Given the description of an element on the screen output the (x, y) to click on. 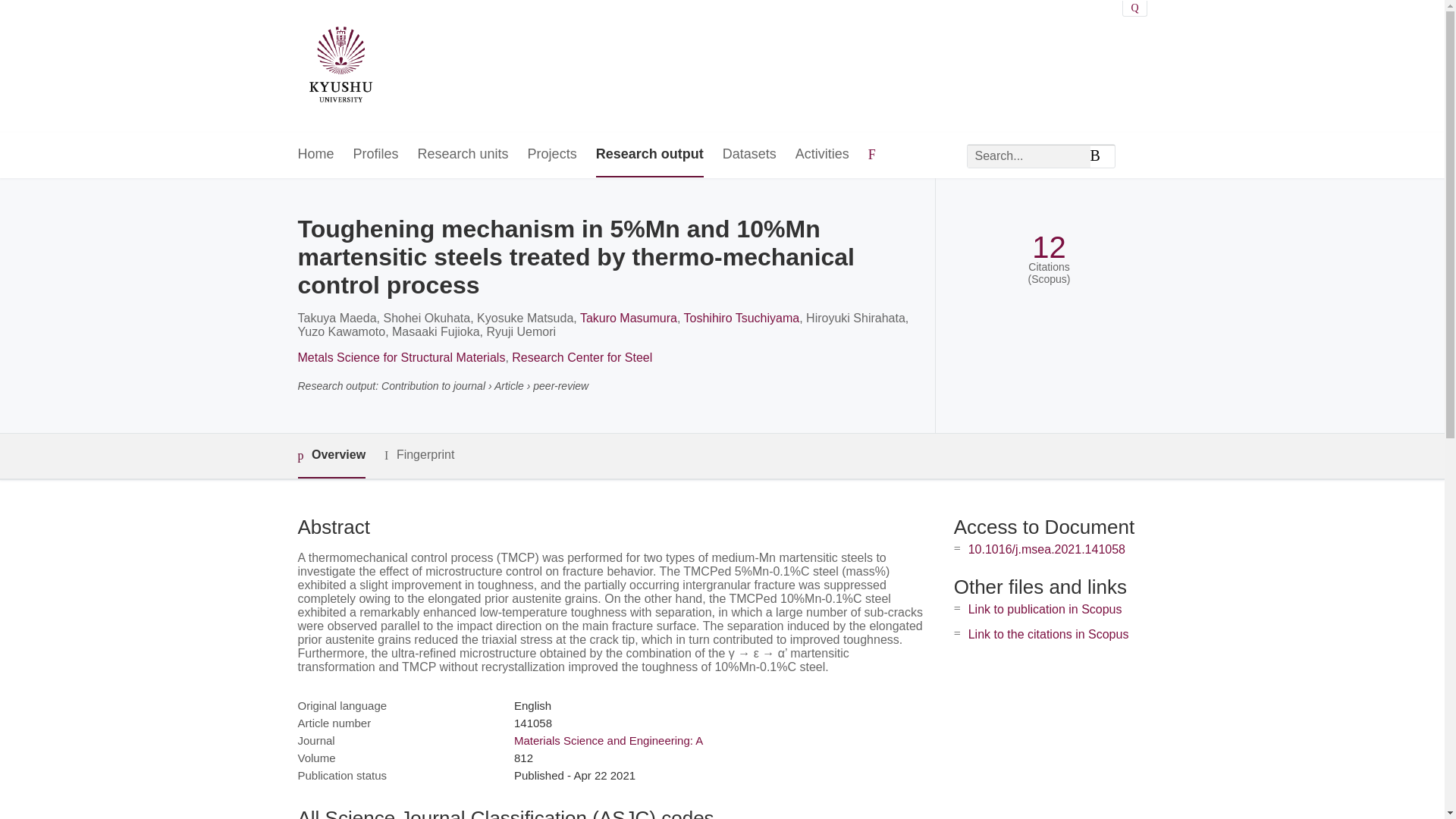
Research Center for Steel (582, 357)
Research units (462, 154)
Projects (551, 154)
Fingerprint (419, 455)
Activities (821, 154)
Research output (649, 154)
Toshihiro Tsuchiyama (741, 318)
Metals Science for Structural Materials (401, 357)
Profiles (375, 154)
